Given the description of an element on the screen output the (x, y) to click on. 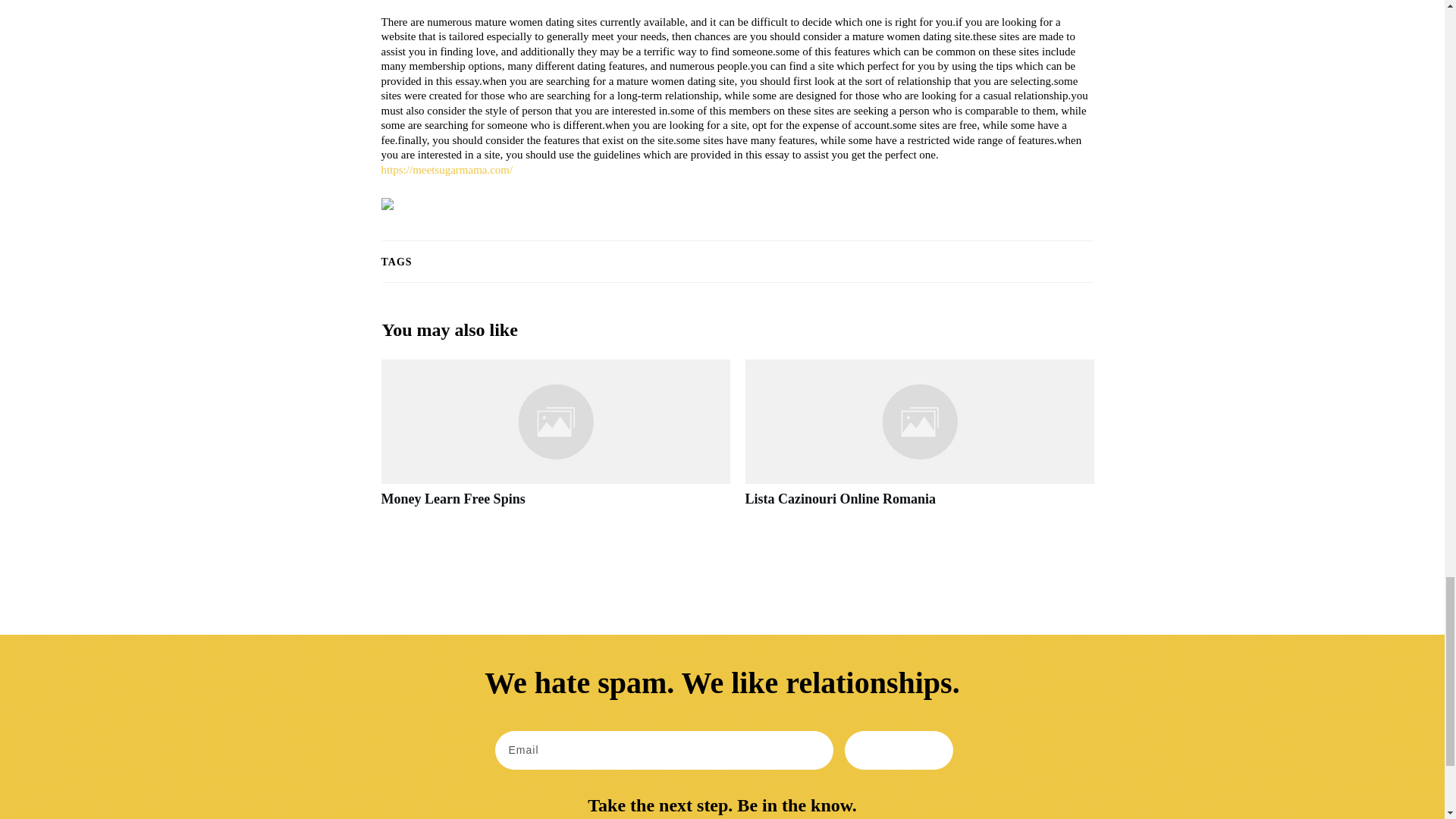
Lista Cazinouri Online Romania (840, 498)
Lista Cazinouri Online Romania (918, 441)
Money Learn Free Spins (452, 498)
Lista Cazinouri Online Romania (840, 498)
Subscribe (898, 750)
Money Learn Free Spins (554, 441)
Money Learn Free Spins (452, 498)
